Given the description of an element on the screen output the (x, y) to click on. 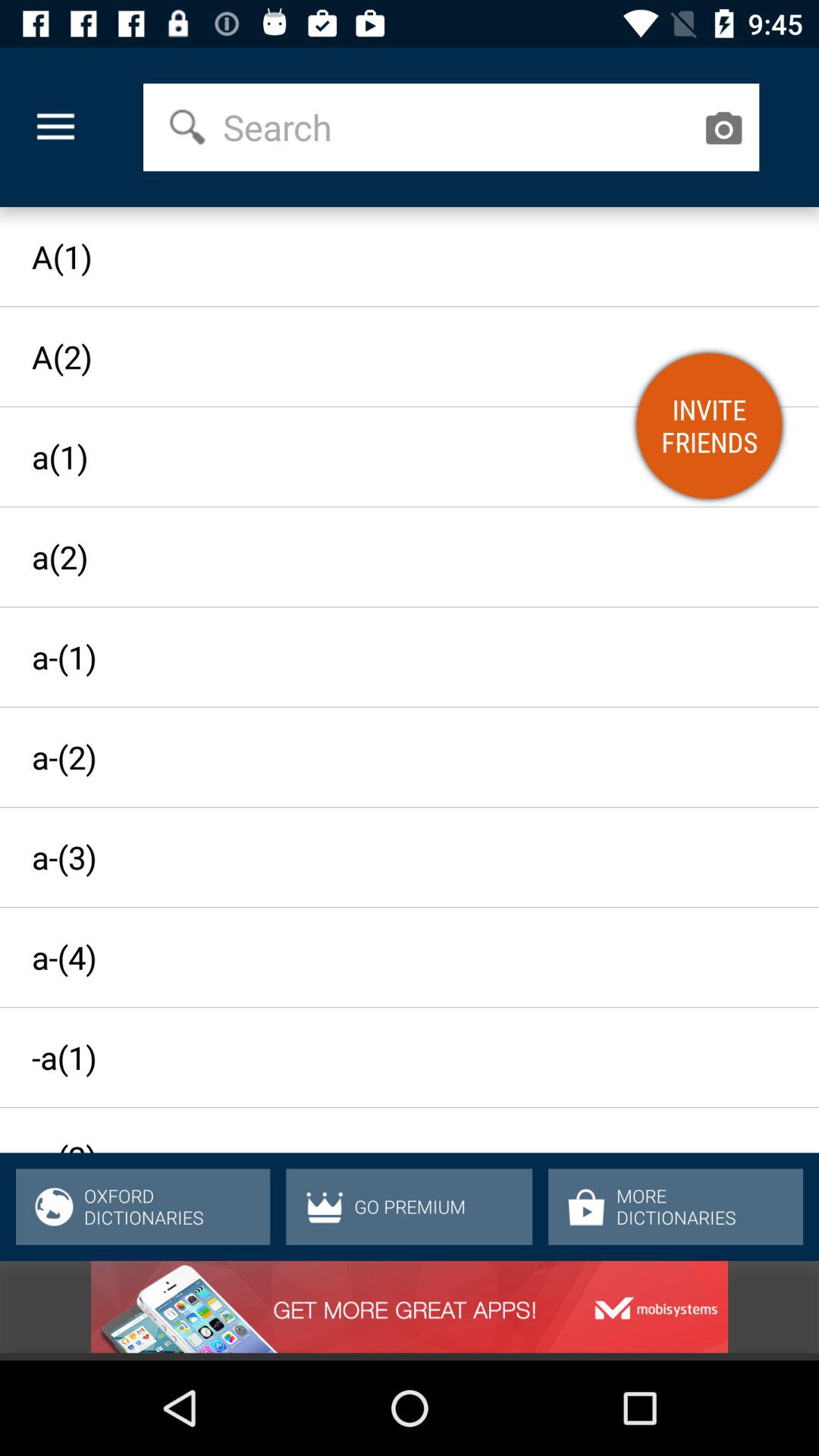
choose the icon above the a(1) icon (723, 127)
